Given the description of an element on the screen output the (x, y) to click on. 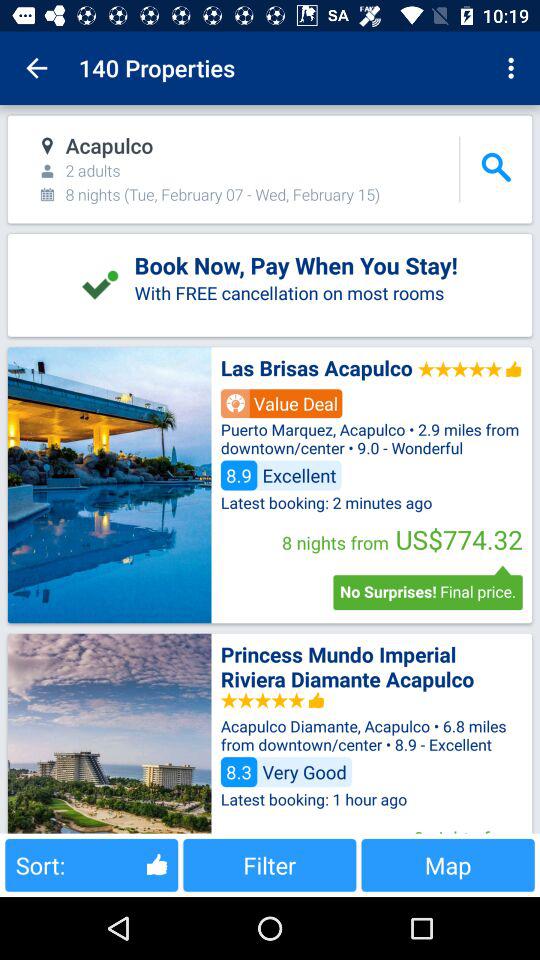
click the item to the left of the filter icon (91, 864)
